Given the description of an element on the screen output the (x, y) to click on. 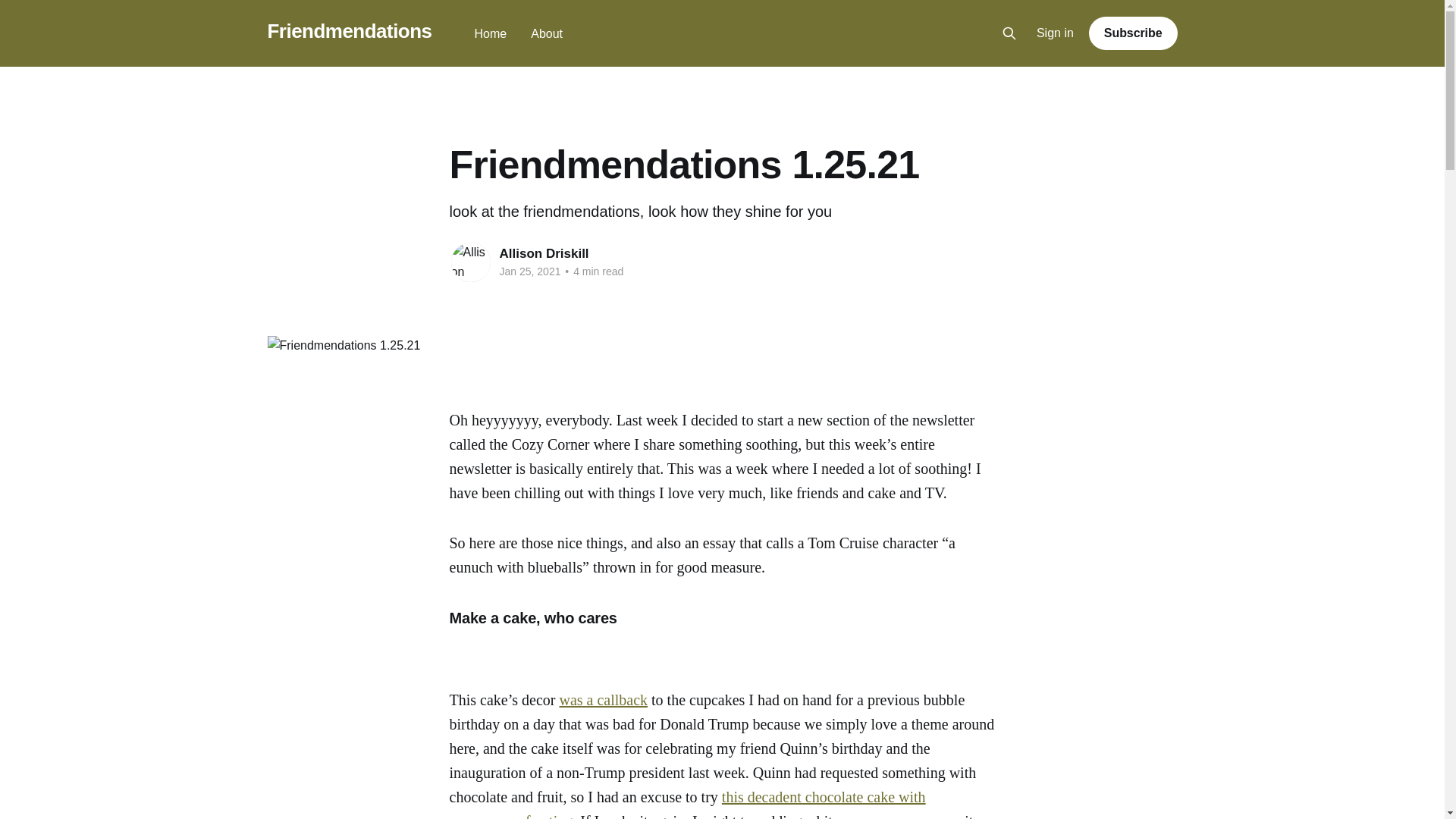
Home (490, 33)
Allison Driskill (543, 253)
Subscribe (1133, 32)
this decadent chocolate cake with mascarpone frosting (686, 803)
About (546, 33)
Sign in (1055, 33)
was a callback (603, 699)
Friendmendations (348, 31)
